Given the description of an element on the screen output the (x, y) to click on. 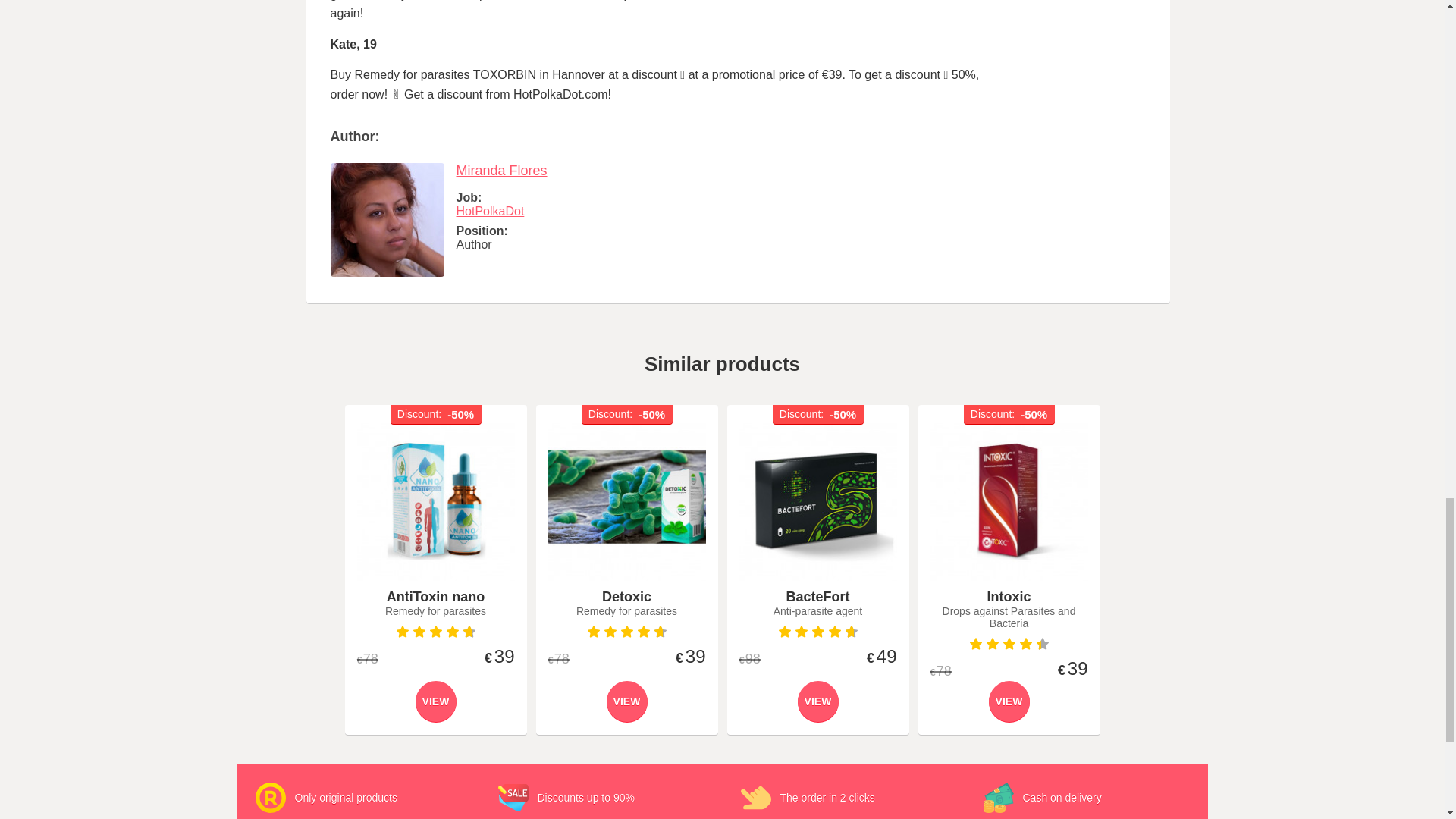
Intoxic (1008, 501)
BacteFort (817, 501)
AntiToxin nano (434, 501)
Detoxic (625, 501)
